Given the description of an element on the screen output the (x, y) to click on. 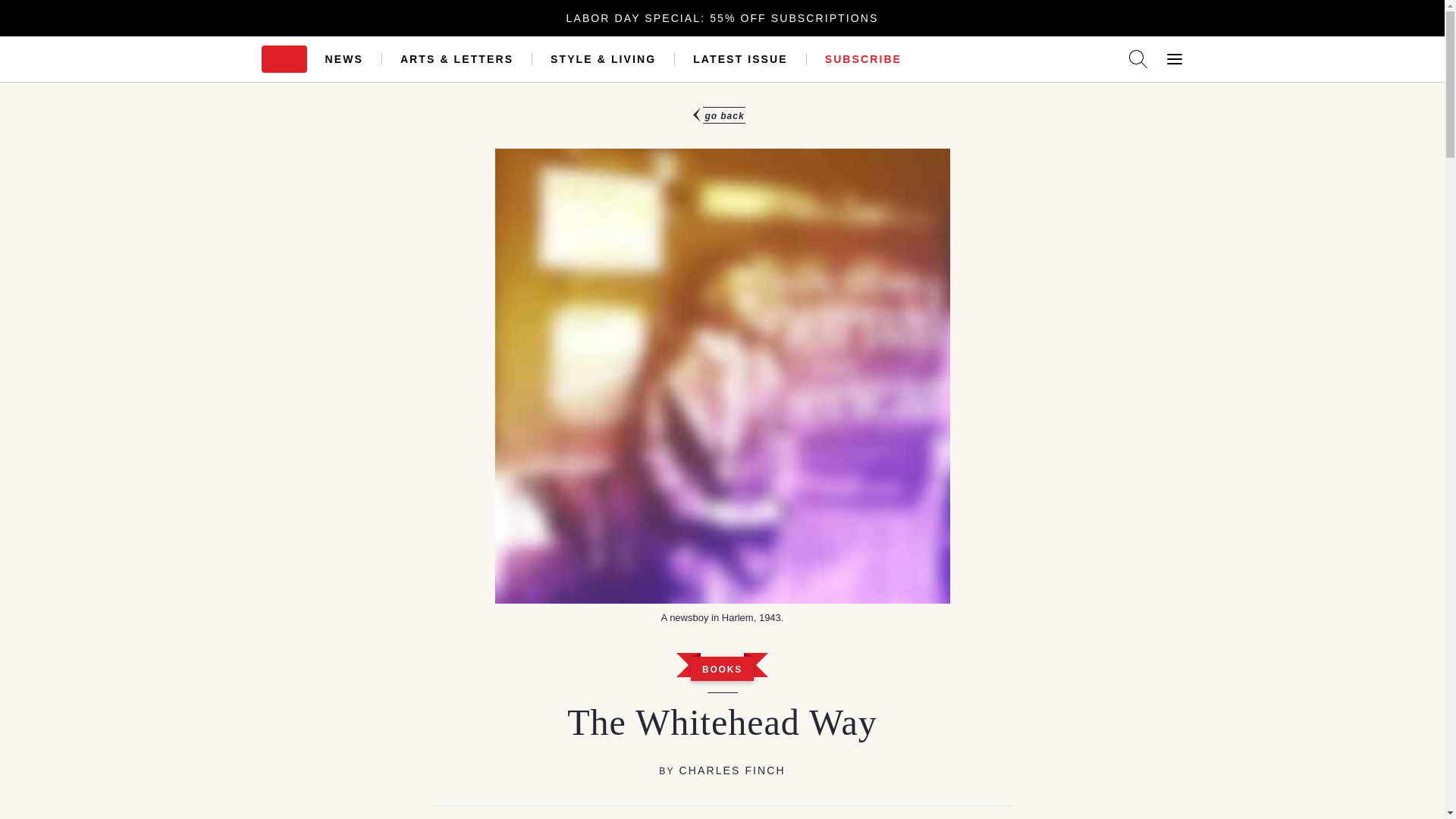
LATEST ISSUE (740, 59)
NEWS (343, 59)
SUBSCRIBE (863, 59)
